Given the description of an element on the screen output the (x, y) to click on. 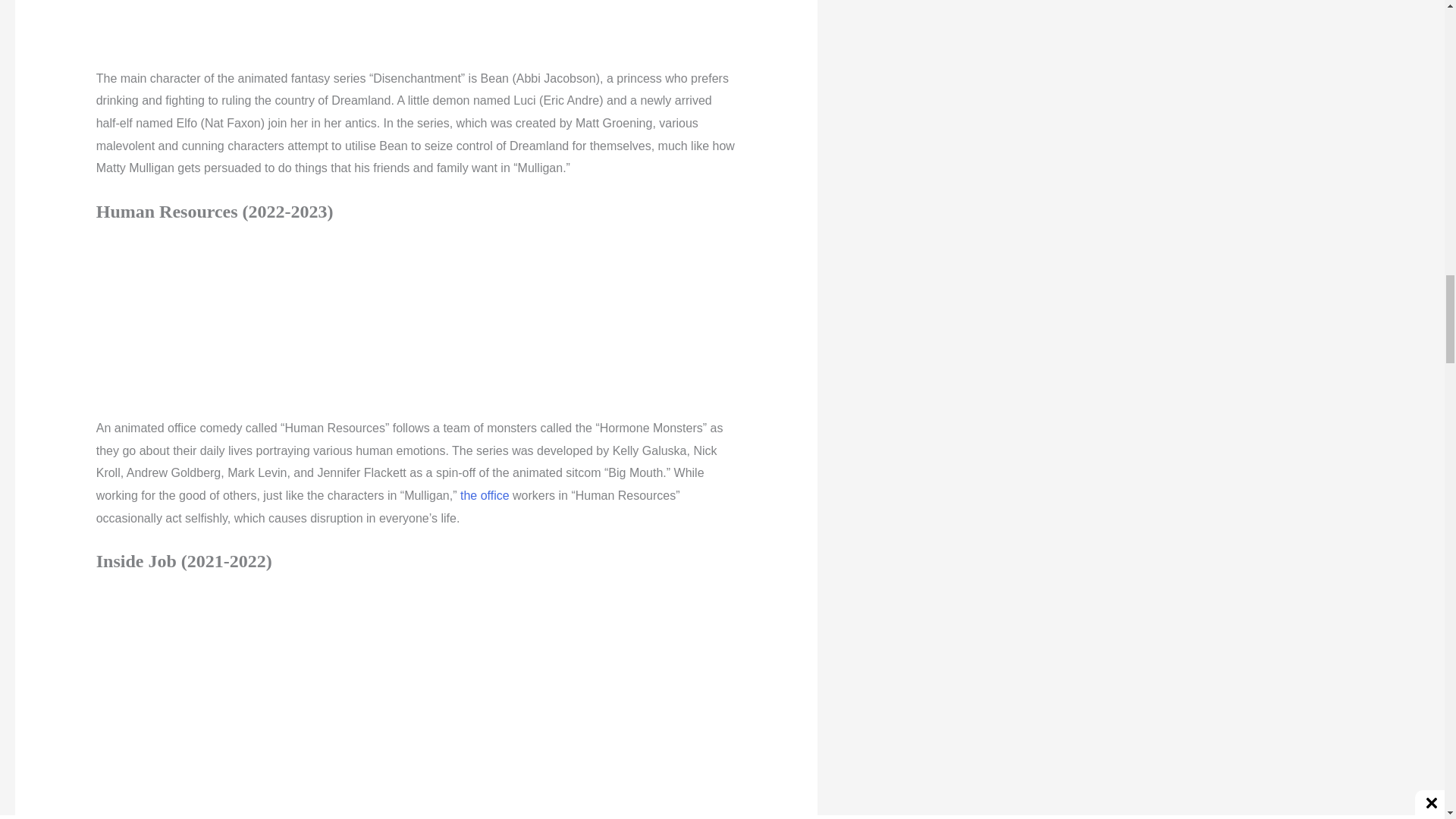
the office (484, 495)
